Given the description of an element on the screen output the (x, y) to click on. 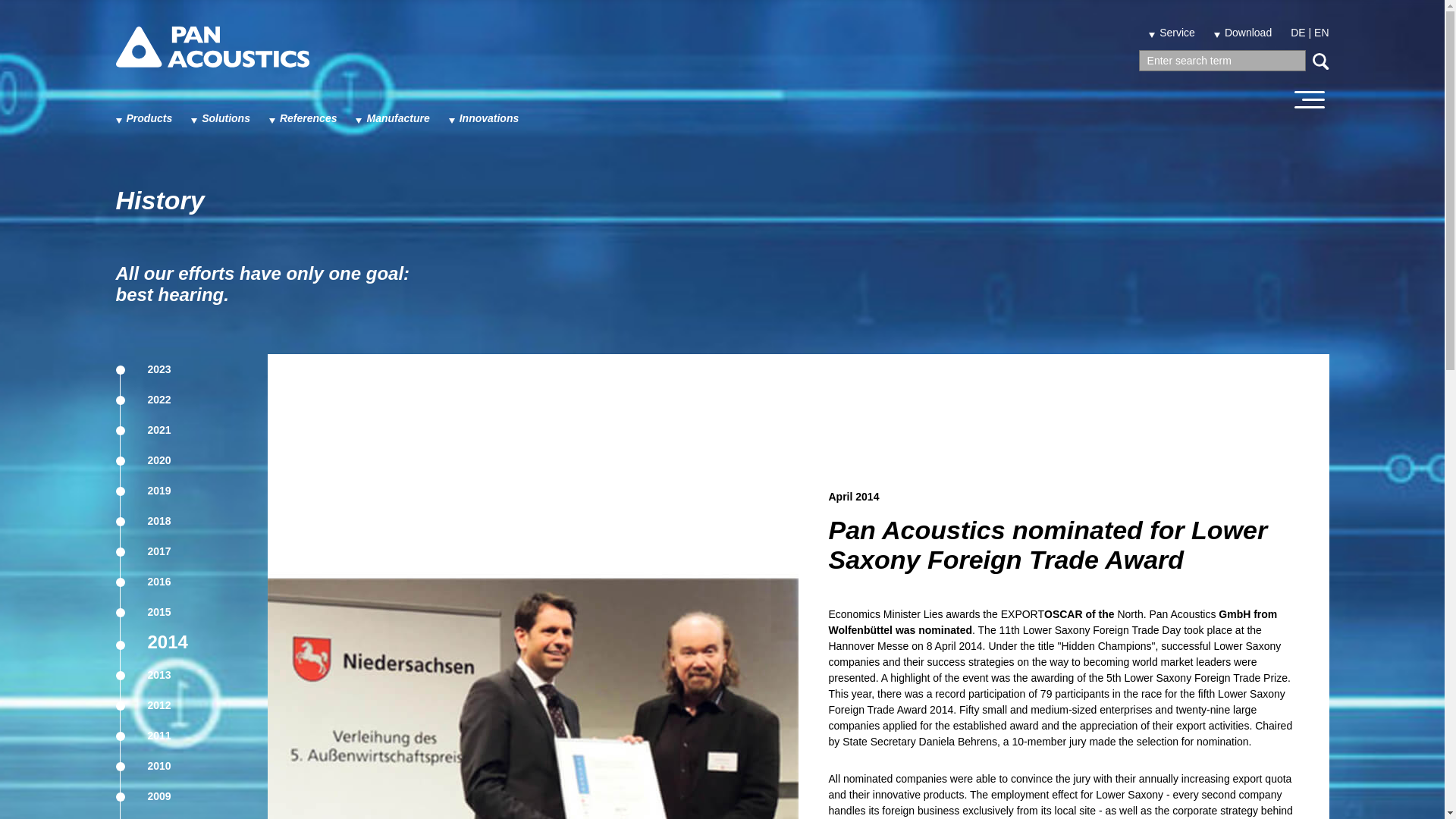
PAN Acoustics (211, 57)
References (303, 118)
DE (1297, 32)
Products (143, 118)
Suchen (1319, 61)
Innovations (483, 118)
Service (1171, 32)
Suchen (1319, 61)
Download (1242, 32)
Download (1242, 32)
Solutions (220, 118)
Solutions (220, 118)
Manufacture (392, 118)
Service (1171, 32)
Suchen (1319, 61)
